Given the description of an element on the screen output the (x, y) to click on. 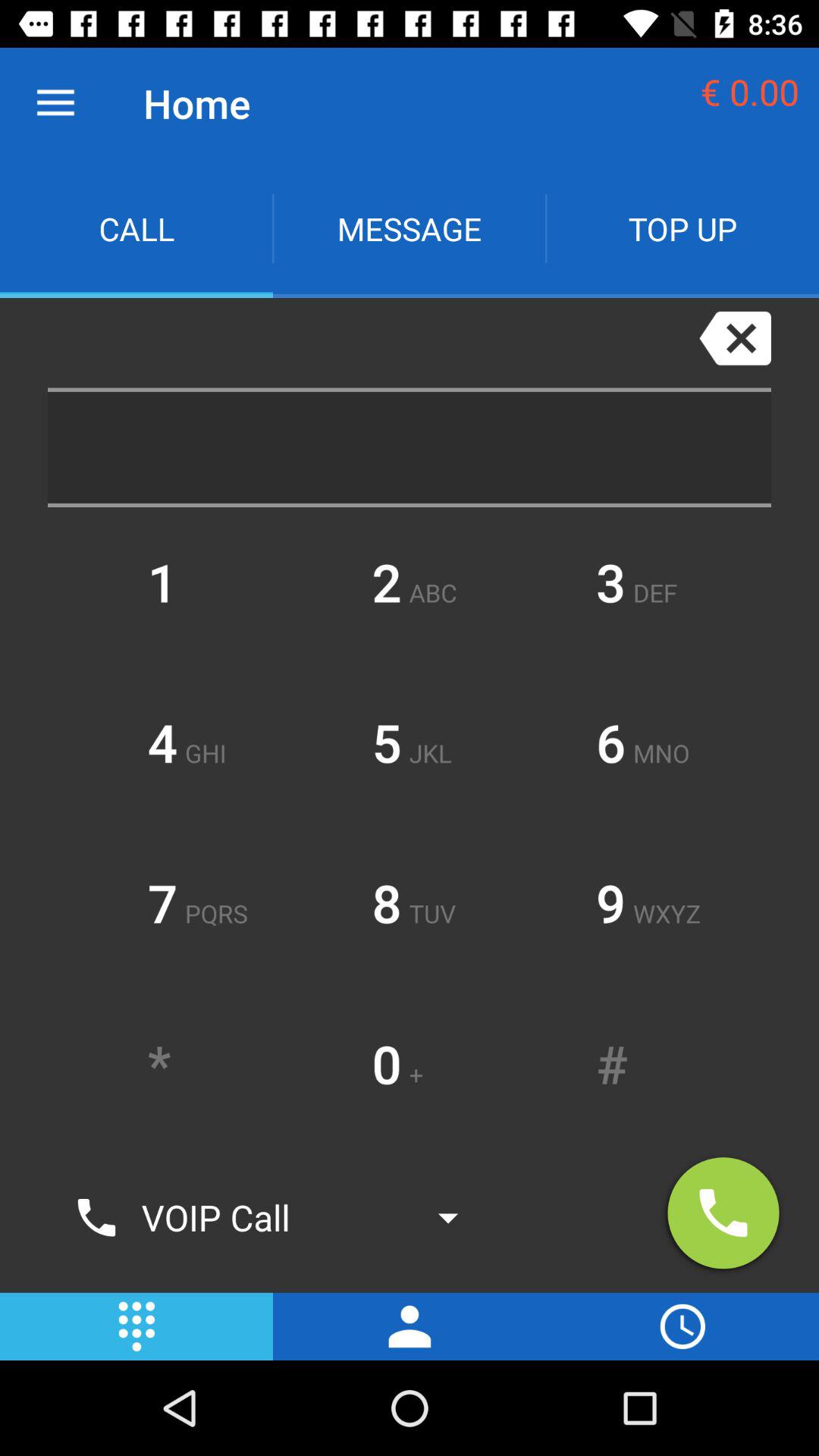
click the top up (682, 228)
